Given the description of an element on the screen output the (x, y) to click on. 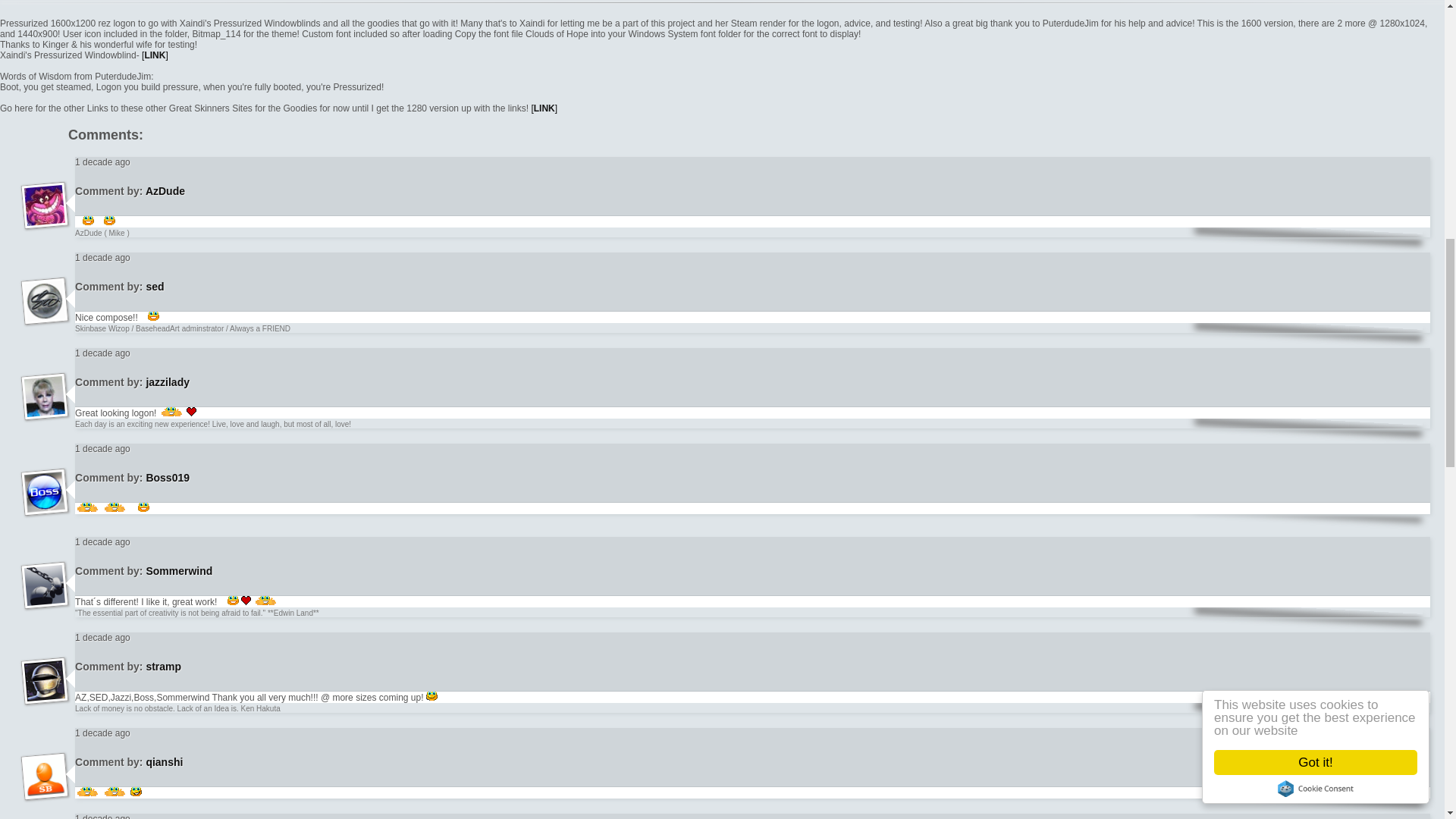
stramp (162, 666)
Profile of member stramp (164, 761)
sed (154, 286)
AzDude (164, 191)
Profile of member qianshi (46, 793)
Profile of member stramp (154, 286)
Profile of member stramp (46, 697)
Profile of member stramp (167, 381)
Profile of member Boss019 (46, 509)
qianshi (164, 761)
Profile of member sed (46, 317)
Profile of member AzDude (46, 222)
jazzilady (167, 381)
Profile of member stramp (178, 571)
Profile of member stramp (162, 666)
